Given the description of an element on the screen output the (x, y) to click on. 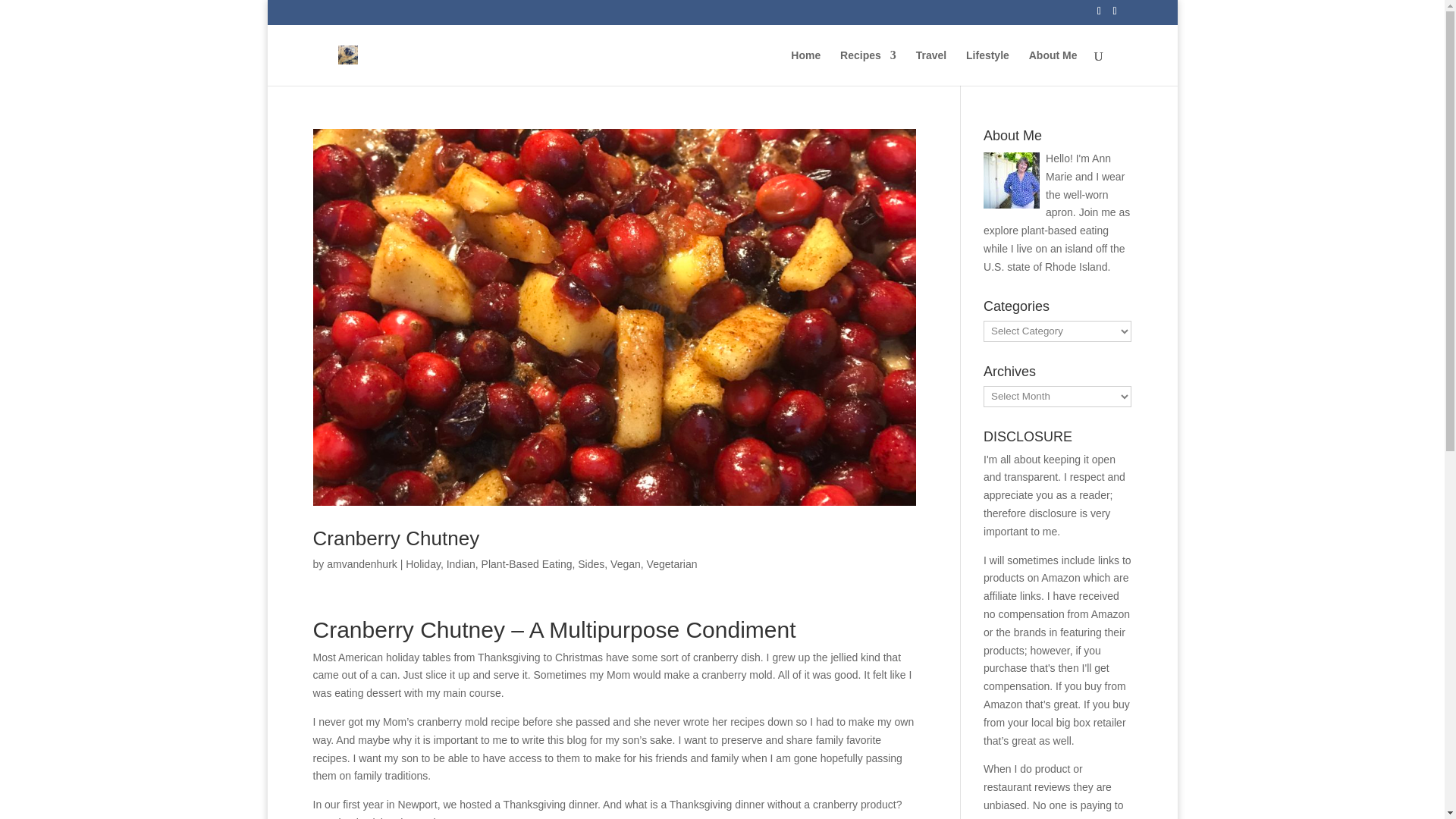
Lifestyle (987, 67)
Recipes (868, 67)
Posts by amvandenhurk (361, 563)
About Me (1053, 67)
